Given the description of an element on the screen output the (x, y) to click on. 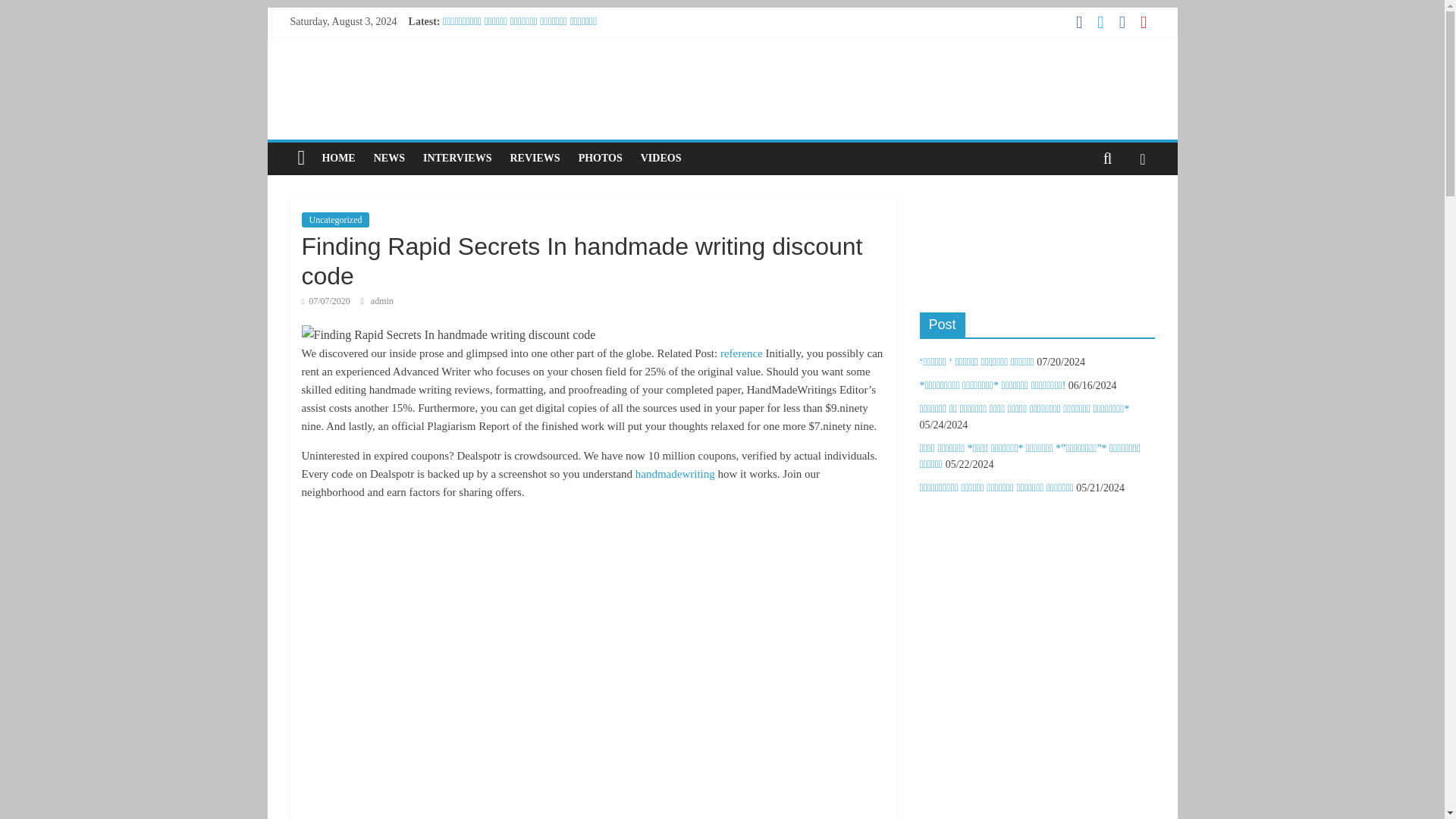
INTERVIEWS (456, 158)
admin (382, 300)
VIDEOS (660, 158)
6:20 pm (325, 300)
admin (382, 300)
HOME (338, 158)
REVIEWS (534, 158)
NEWS (389, 158)
handmadewriting (674, 473)
PHOTOS (600, 158)
reference (741, 353)
Uncategorized (335, 219)
